Given the description of an element on the screen output the (x, y) to click on. 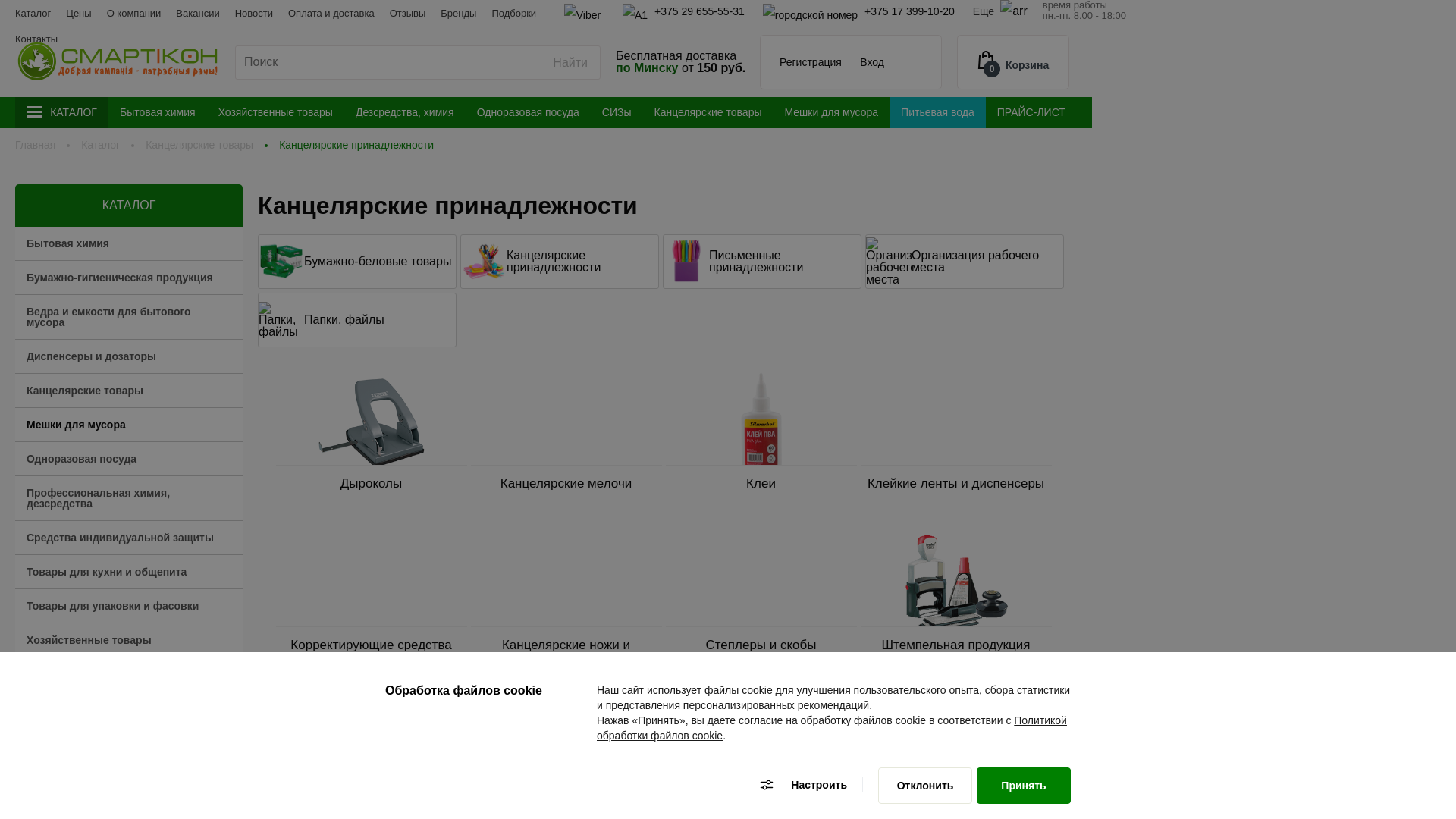
+375 17 399-10-20 Element type: text (859, 11)
+375 29 655-55-31 Element type: text (683, 11)
